Given the description of an element on the screen output the (x, y) to click on. 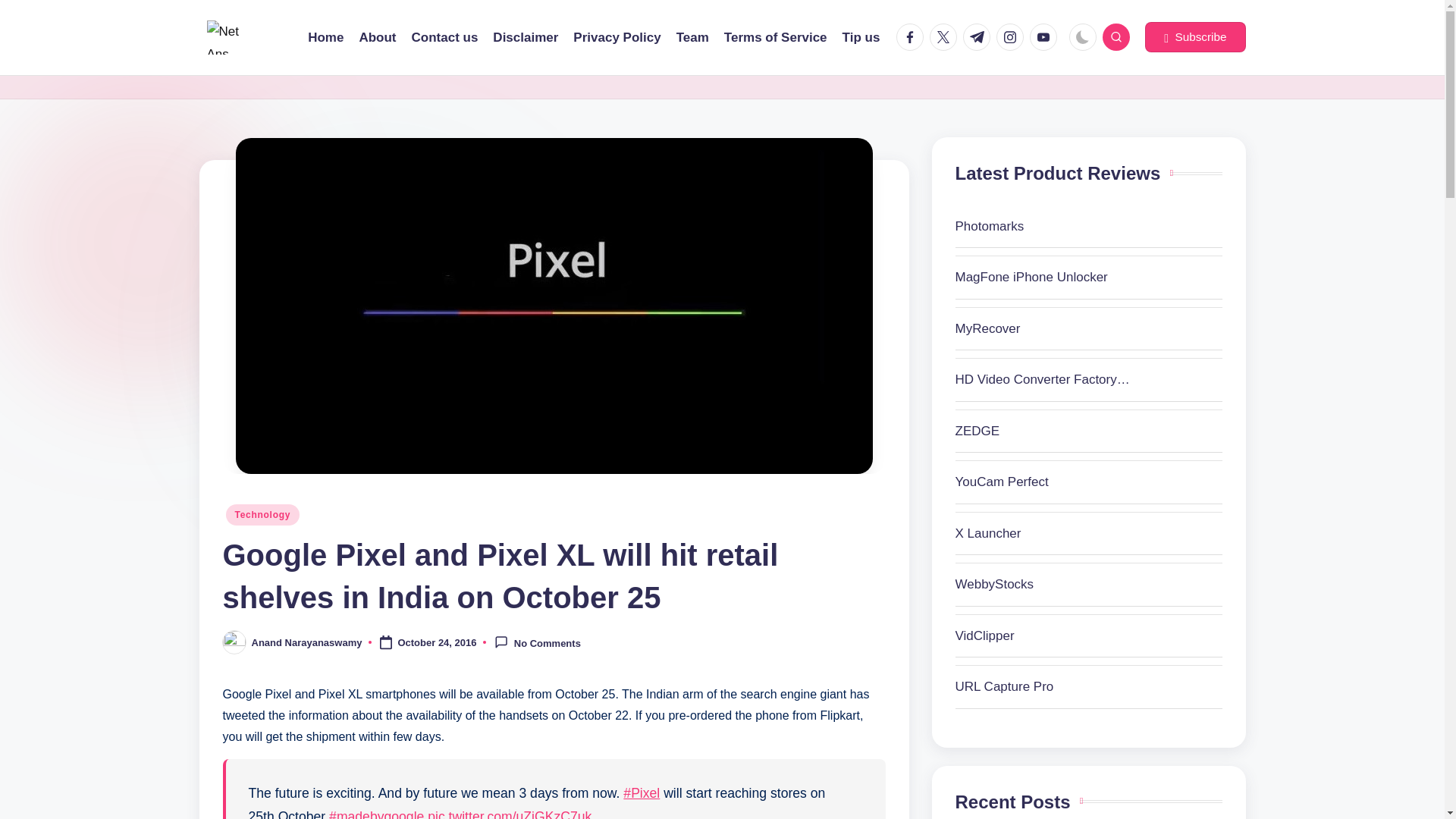
X Launcher (1043, 533)
ZEDGE (1043, 431)
instagram.com (1012, 36)
WebbyStocks (1043, 584)
Anand Narayanaswamy (306, 642)
Photomarks (1043, 226)
About (377, 37)
VidClipper (1043, 636)
HD Video Converter Factory Pro (1043, 379)
Subscribe (1194, 37)
